Given the description of an element on the screen output the (x, y) to click on. 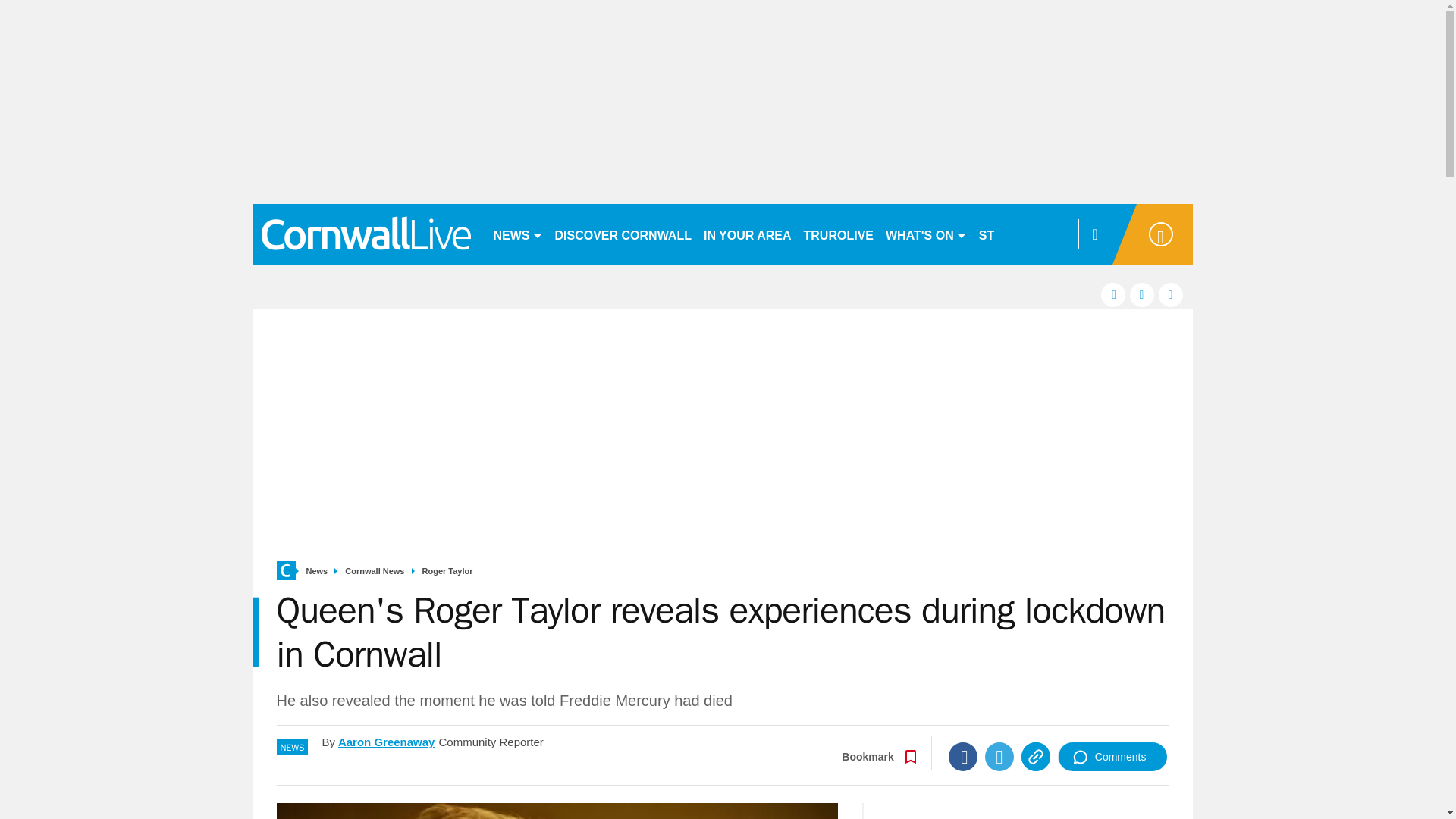
cornwalllive (365, 233)
TRUROLIVE (838, 233)
DISCOVER CORNWALL (622, 233)
Facebook (962, 756)
NEWS (517, 233)
IN YOUR AREA (747, 233)
twitter (1141, 294)
WHAT'S ON (925, 233)
ST AUSTELL (1015, 233)
instagram (1170, 294)
facebook (1112, 294)
Comments (1112, 756)
Twitter (999, 756)
